Given the description of an element on the screen output the (x, y) to click on. 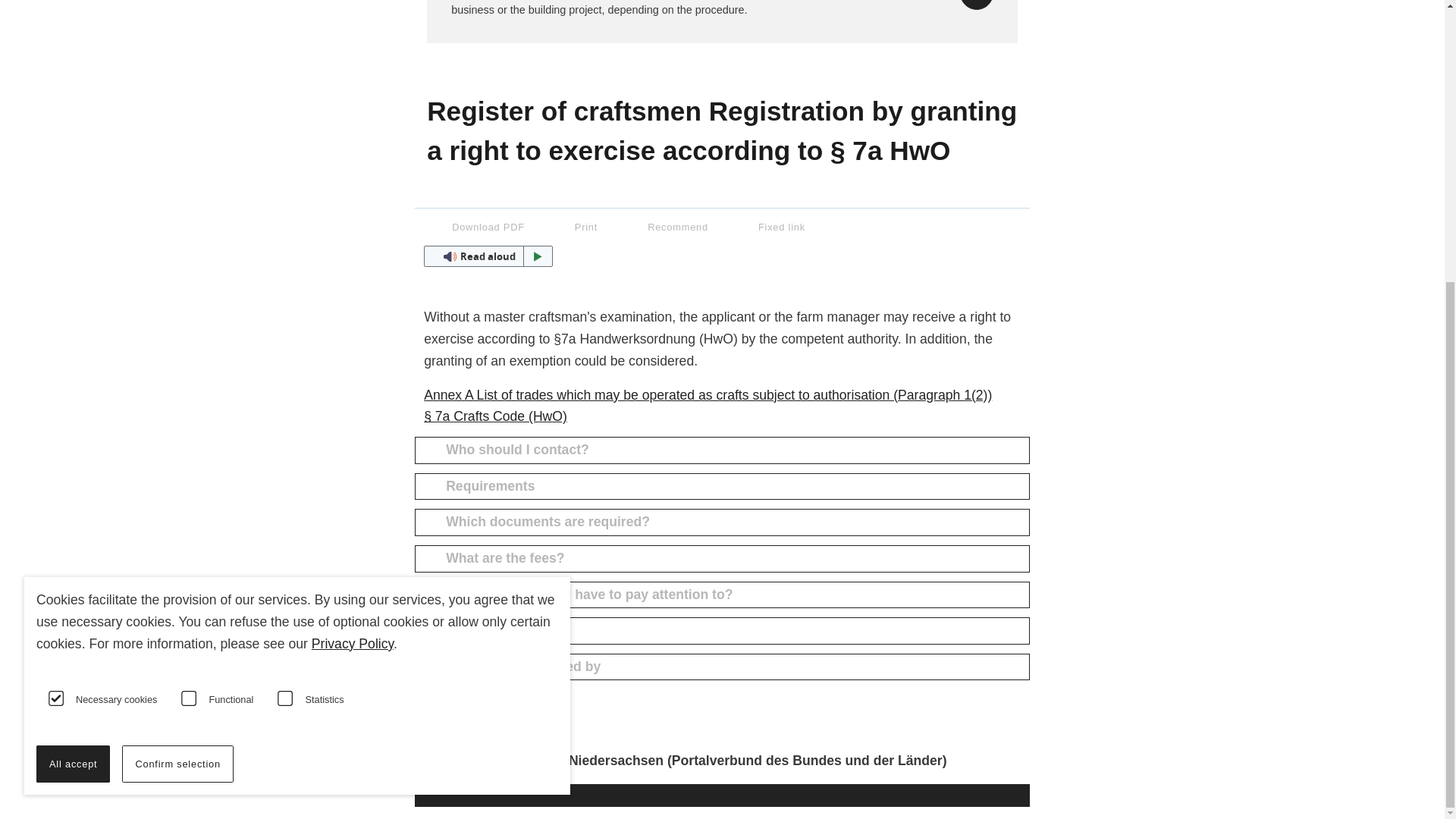
Privacy Policy (352, 221)
Confirm selection (177, 342)
Specify city or zip code (975, 4)
show content of Legal basis (721, 630)
show content of Requirements (721, 486)
show content of Which documents are required? (721, 522)
All accept (73, 342)
show content of Technically approved by (721, 666)
show content of Who should I contact? (721, 450)
To listen to the text, please use ReadSpeaker (487, 255)
show content of What are the fees? (721, 558)
